Given the description of an element on the screen output the (x, y) to click on. 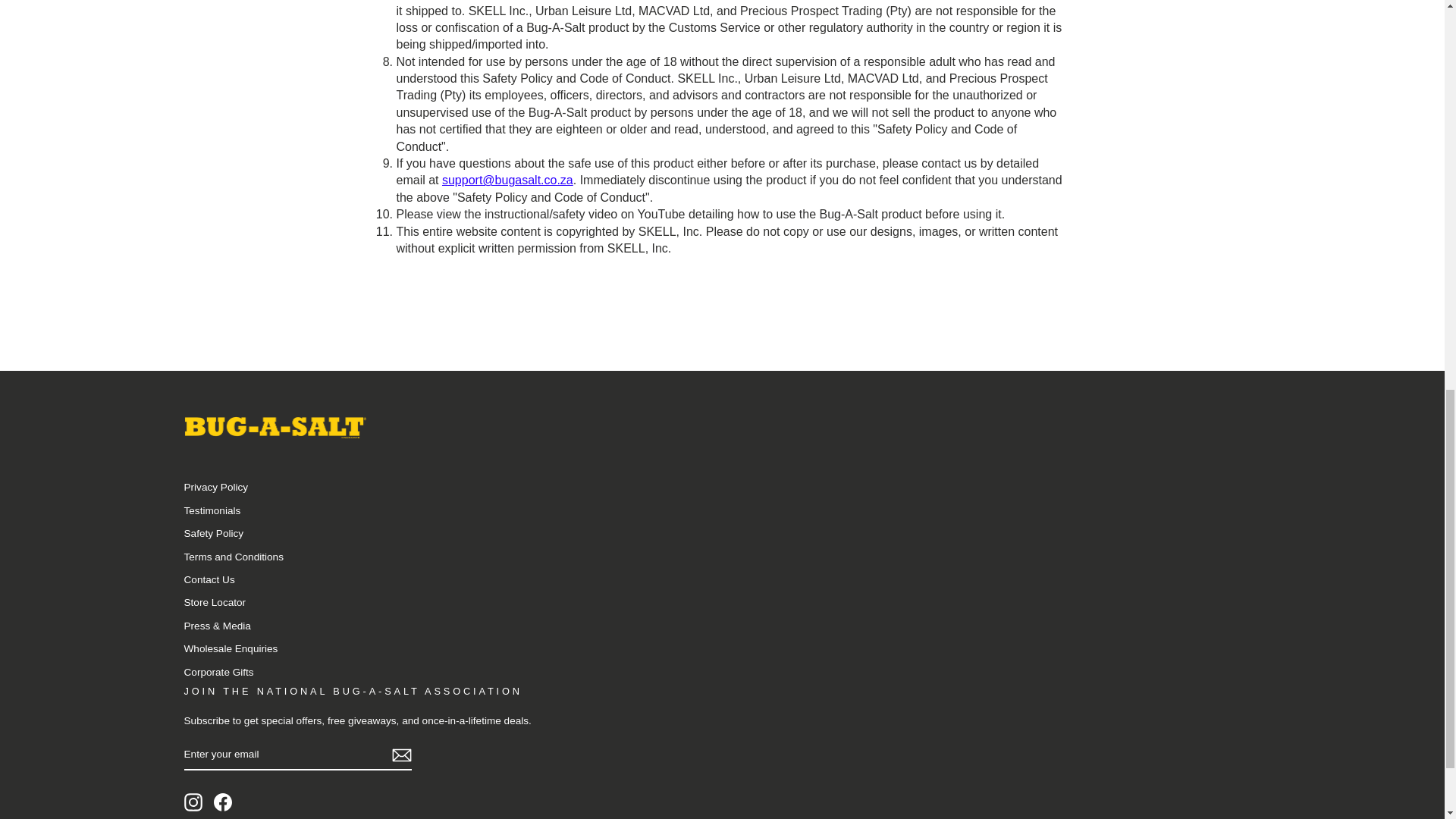
Terms and Conditions (232, 557)
Store Locator (214, 602)
Bug-A-Salt South Africa on Facebook (222, 802)
Wholesale Enquiries (230, 648)
Instagram (192, 802)
Safety Policy (213, 533)
Contact Us (208, 579)
Testimonials (211, 510)
Facebook (222, 802)
Bug-A-Salt South Africa on Instagram (192, 802)
